Given the description of an element on the screen output the (x, y) to click on. 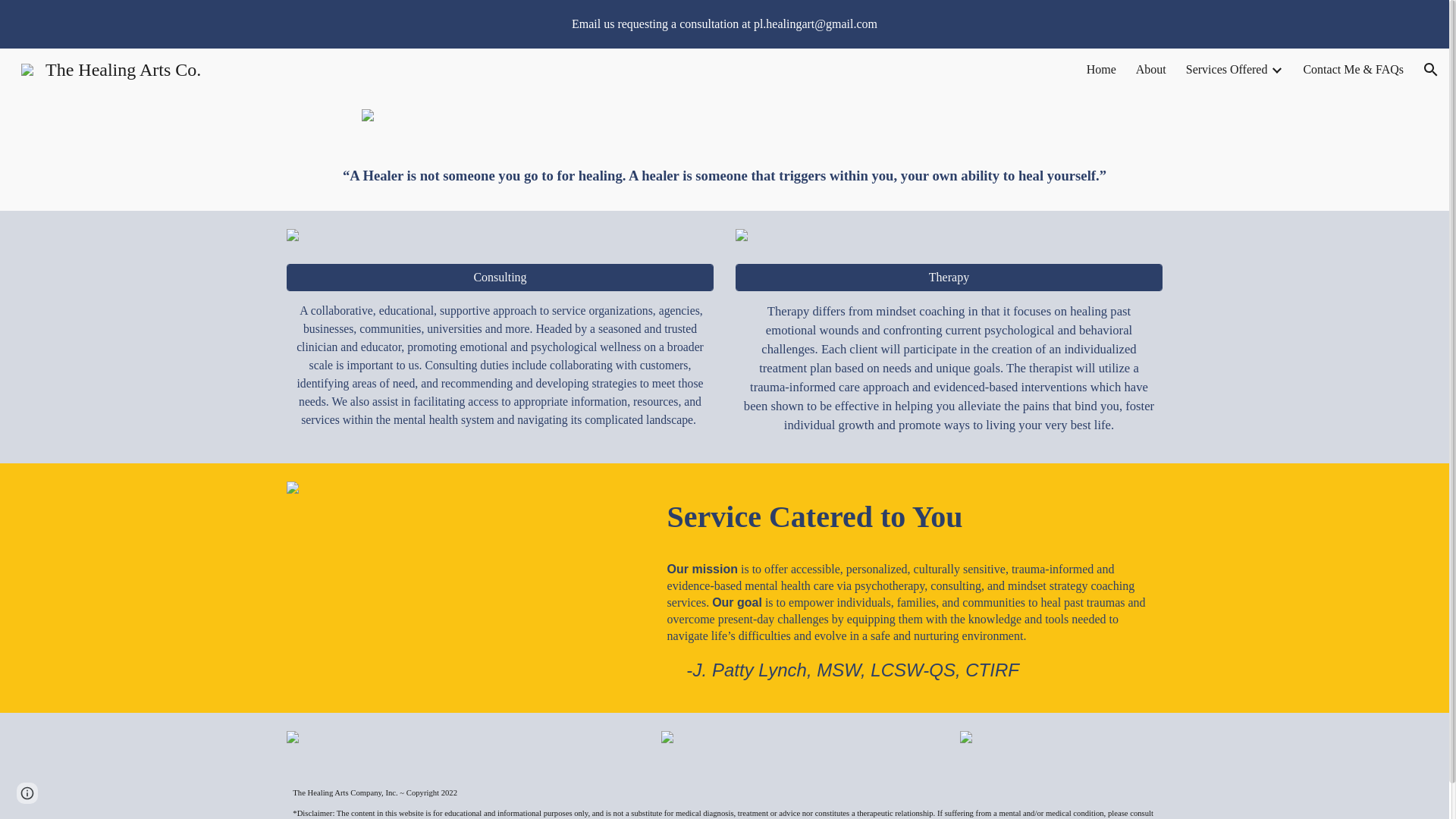
Services Offered (1227, 69)
About (1150, 69)
The Healing Arts Co. (110, 67)
Home (1101, 69)
Consulting (498, 277)
Therapy (948, 277)
